Given the description of an element on the screen output the (x, y) to click on. 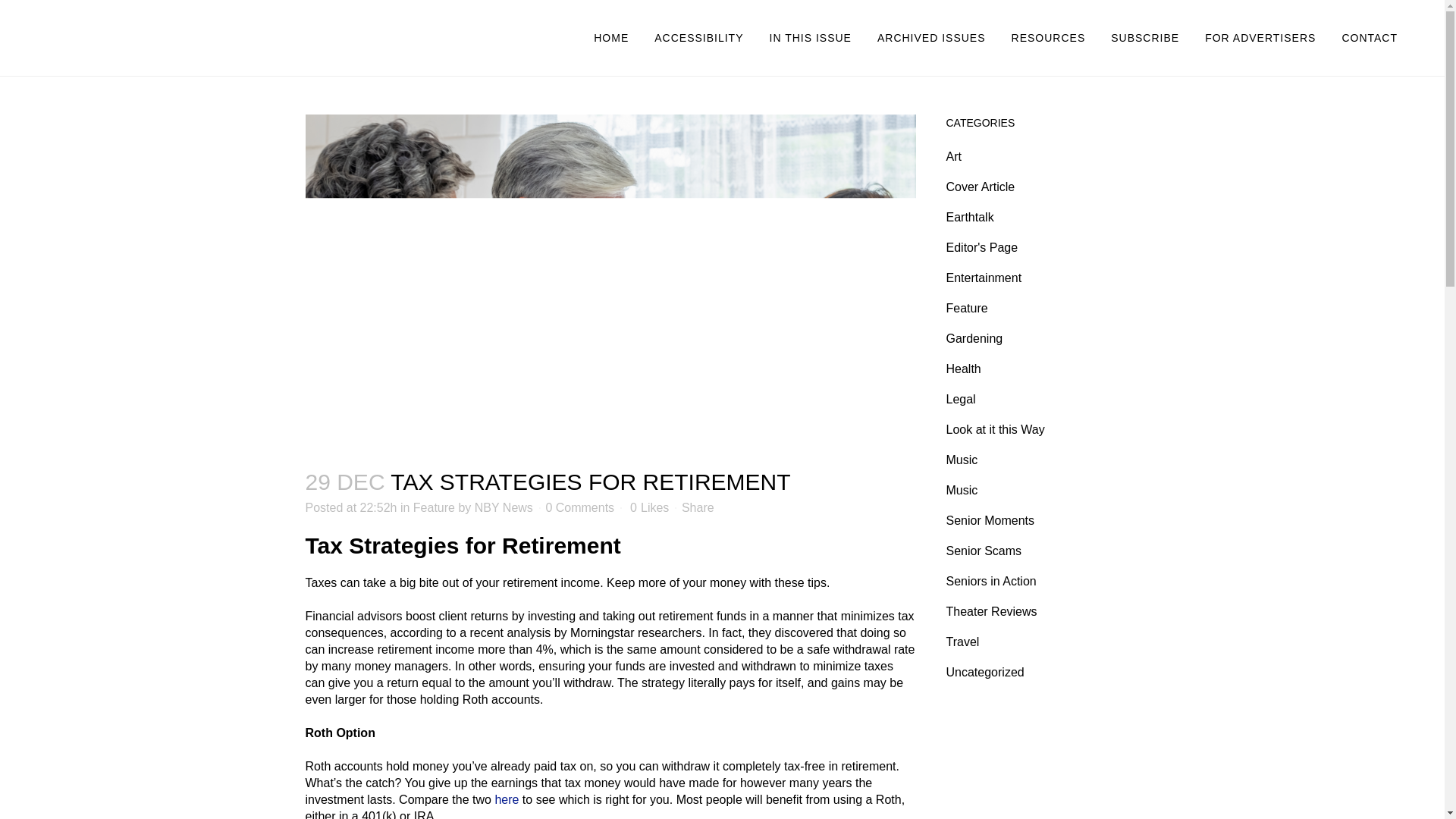
Like this (649, 507)
SUBSCRIBE (1144, 38)
ARCHIVED ISSUES (931, 38)
IN THIS ISSUE (810, 38)
CONTACT (1368, 38)
RESOURCES (1048, 38)
ACCESSIBILITY (698, 38)
FOR ADVERTISERS (1259, 38)
